Given the description of an element on the screen output the (x, y) to click on. 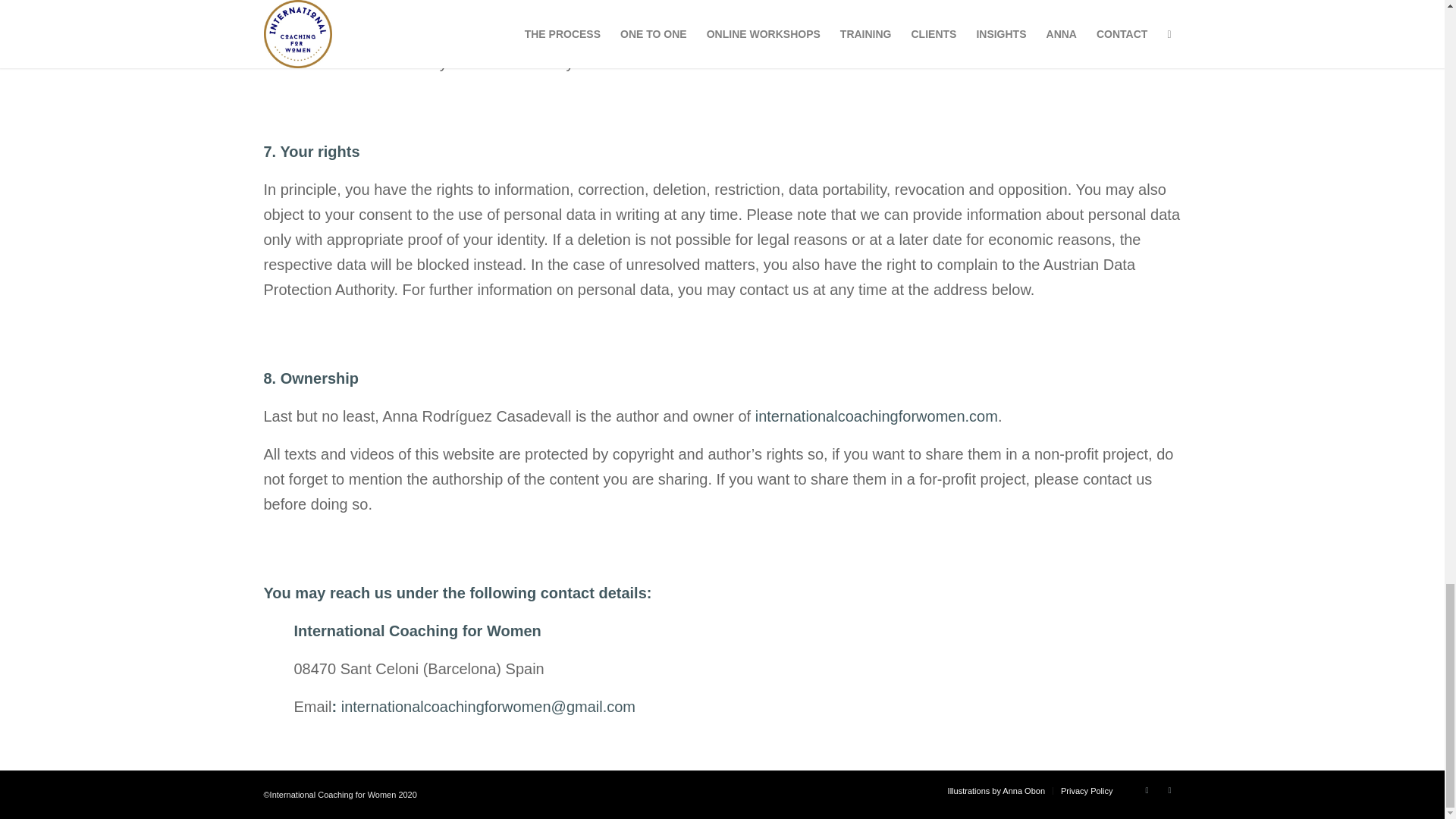
Privacy Policy (1086, 790)
LinkedIn (1146, 789)
internationalcoachingforwomen.com (876, 416)
Instagram (1169, 789)
Illustrations by Anna Obon (996, 790)
